Given the description of an element on the screen output the (x, y) to click on. 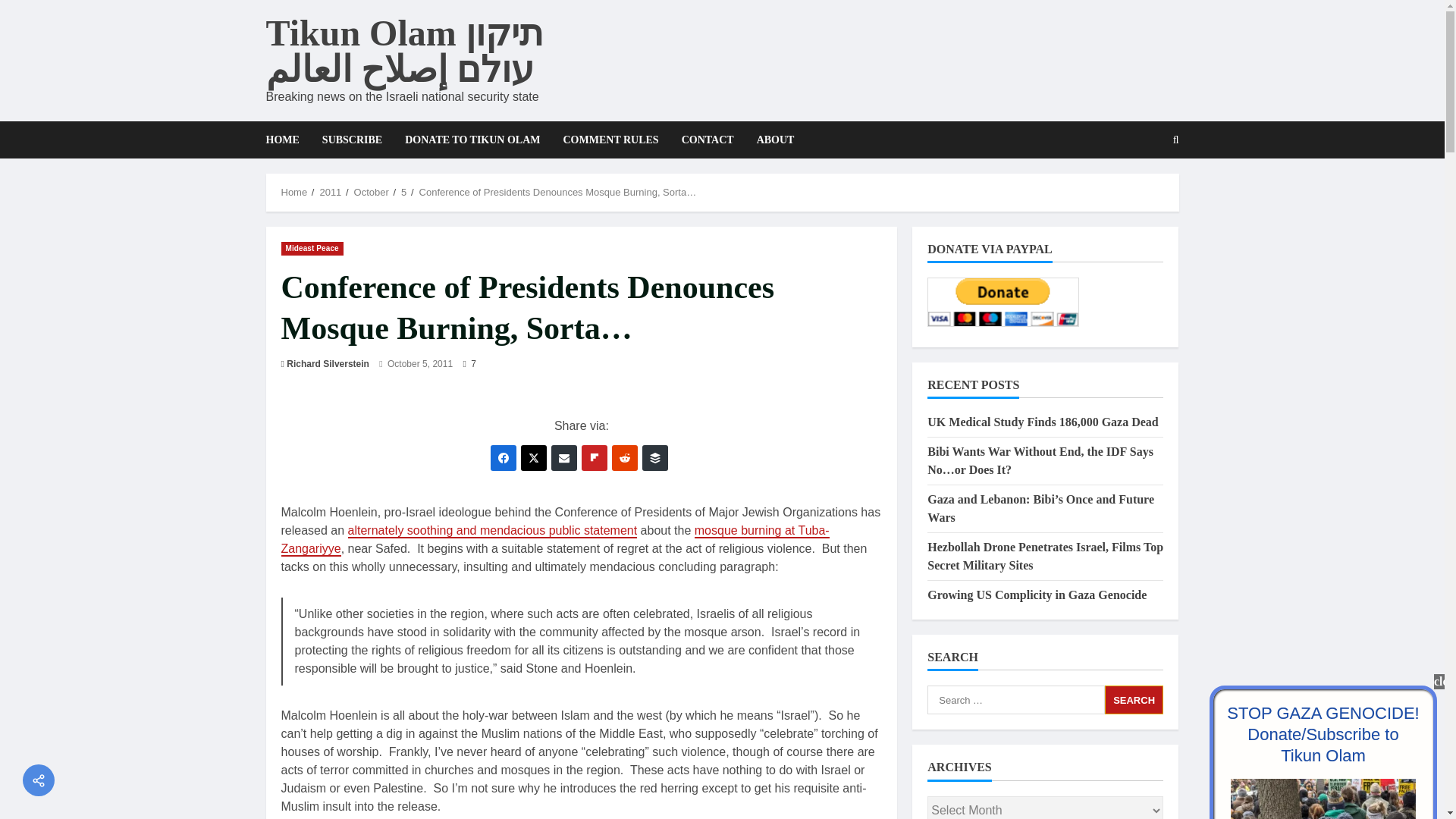
2011 (329, 192)
CONTACT (707, 139)
7 (469, 364)
Home (294, 192)
HOME (287, 139)
alternately soothing and mendacious public statement (492, 531)
PayPal - The safer, easier way to pay online! (1002, 301)
COMMENT RULES (610, 139)
SUBSCRIBE (352, 139)
5 (403, 192)
Search (1134, 699)
Search (1139, 191)
Richard Silverstein (327, 364)
October (370, 192)
